Given the description of an element on the screen output the (x, y) to click on. 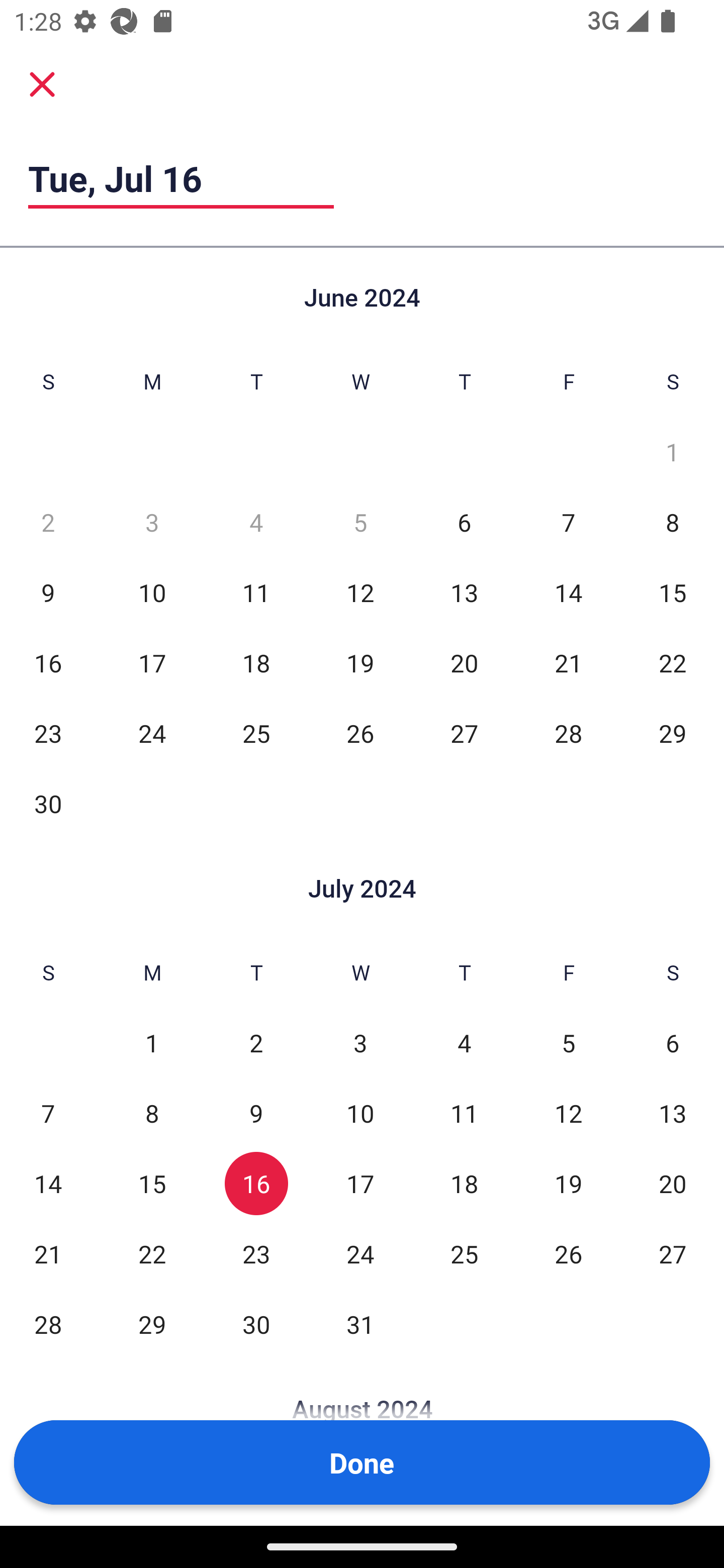
Cancel (42, 84)
Tue, Jul 16 (180, 178)
1 Sat, Jun 1, Not Selected (672, 452)
2 Sun, Jun 2, Not Selected (48, 521)
3 Mon, Jun 3, Not Selected (152, 521)
4 Tue, Jun 4, Not Selected (256, 521)
5 Wed, Jun 5, Not Selected (360, 521)
6 Thu, Jun 6, Not Selected (464, 521)
7 Fri, Jun 7, Not Selected (568, 521)
8 Sat, Jun 8, Not Selected (672, 521)
9 Sun, Jun 9, Not Selected (48, 591)
10 Mon, Jun 10, Not Selected (152, 591)
11 Tue, Jun 11, Not Selected (256, 591)
12 Wed, Jun 12, Not Selected (360, 591)
13 Thu, Jun 13, Not Selected (464, 591)
14 Fri, Jun 14, Not Selected (568, 591)
15 Sat, Jun 15, Not Selected (672, 591)
16 Sun, Jun 16, Not Selected (48, 662)
17 Mon, Jun 17, Not Selected (152, 662)
18 Tue, Jun 18, Not Selected (256, 662)
19 Wed, Jun 19, Not Selected (360, 662)
20 Thu, Jun 20, Not Selected (464, 662)
21 Fri, Jun 21, Not Selected (568, 662)
22 Sat, Jun 22, Not Selected (672, 662)
23 Sun, Jun 23, Not Selected (48, 732)
24 Mon, Jun 24, Not Selected (152, 732)
25 Tue, Jun 25, Not Selected (256, 732)
26 Wed, Jun 26, Not Selected (360, 732)
27 Thu, Jun 27, Not Selected (464, 732)
28 Fri, Jun 28, Not Selected (568, 732)
29 Sat, Jun 29, Not Selected (672, 732)
30 Sun, Jun 30, Not Selected (48, 803)
1 Mon, Jul 1, Not Selected (152, 1043)
2 Tue, Jul 2, Not Selected (256, 1043)
3 Wed, Jul 3, Not Selected (360, 1043)
4 Thu, Jul 4, Not Selected (464, 1043)
5 Fri, Jul 5, Not Selected (568, 1043)
6 Sat, Jul 6, Not Selected (672, 1043)
7 Sun, Jul 7, Not Selected (48, 1112)
8 Mon, Jul 8, Not Selected (152, 1112)
9 Tue, Jul 9, Not Selected (256, 1112)
10 Wed, Jul 10, Not Selected (360, 1112)
11 Thu, Jul 11, Not Selected (464, 1112)
12 Fri, Jul 12, Not Selected (568, 1112)
13 Sat, Jul 13, Not Selected (672, 1112)
14 Sun, Jul 14, Not Selected (48, 1182)
15 Mon, Jul 15, Not Selected (152, 1182)
16 Tue, Jul 16, Selected (256, 1182)
17 Wed, Jul 17, Not Selected (360, 1182)
18 Thu, Jul 18, Not Selected (464, 1182)
19 Fri, Jul 19, Not Selected (568, 1182)
20 Sat, Jul 20, Not Selected (672, 1182)
21 Sun, Jul 21, Not Selected (48, 1253)
22 Mon, Jul 22, Not Selected (152, 1253)
23 Tue, Jul 23, Not Selected (256, 1253)
24 Wed, Jul 24, Not Selected (360, 1253)
25 Thu, Jul 25, Not Selected (464, 1253)
26 Fri, Jul 26, Not Selected (568, 1253)
27 Sat, Jul 27, Not Selected (672, 1253)
28 Sun, Jul 28, Not Selected (48, 1323)
29 Mon, Jul 29, Not Selected (152, 1323)
30 Tue, Jul 30, Not Selected (256, 1323)
31 Wed, Jul 31, Not Selected (360, 1323)
Done Button Done (361, 1462)
